Given the description of an element on the screen output the (x, y) to click on. 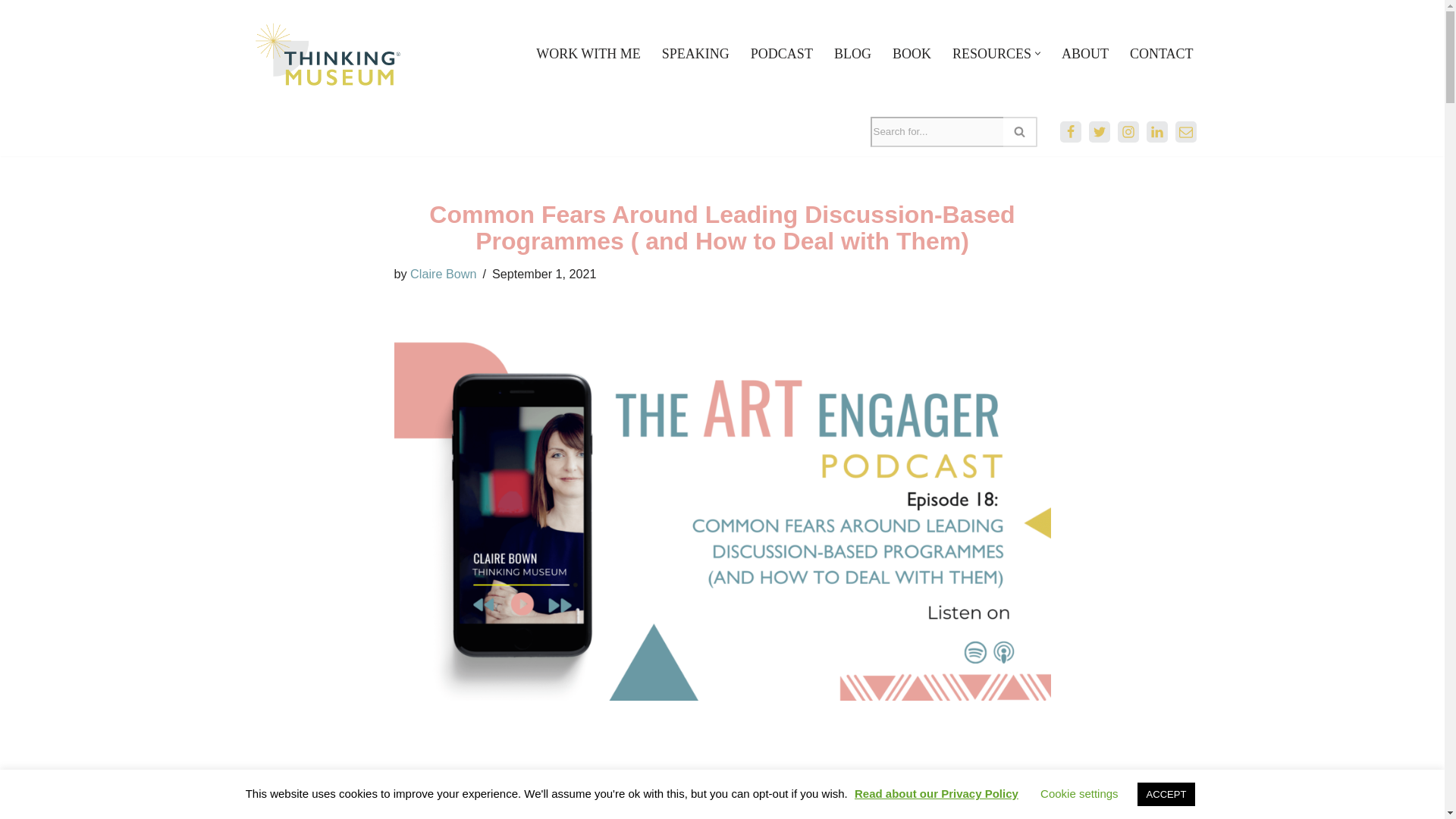
CONTACT (1161, 53)
PODCAST (781, 53)
SPEAKING (695, 53)
RESOURCES (991, 53)
WORK WITH ME (587, 53)
Facebook (1070, 131)
BLOG (852, 53)
BOOK (911, 53)
Twitter (1099, 131)
LinkedIn (1157, 131)
Email (1185, 131)
ABOUT (1084, 53)
Skip to content (11, 31)
Instagram (1128, 131)
